Given the description of an element on the screen output the (x, y) to click on. 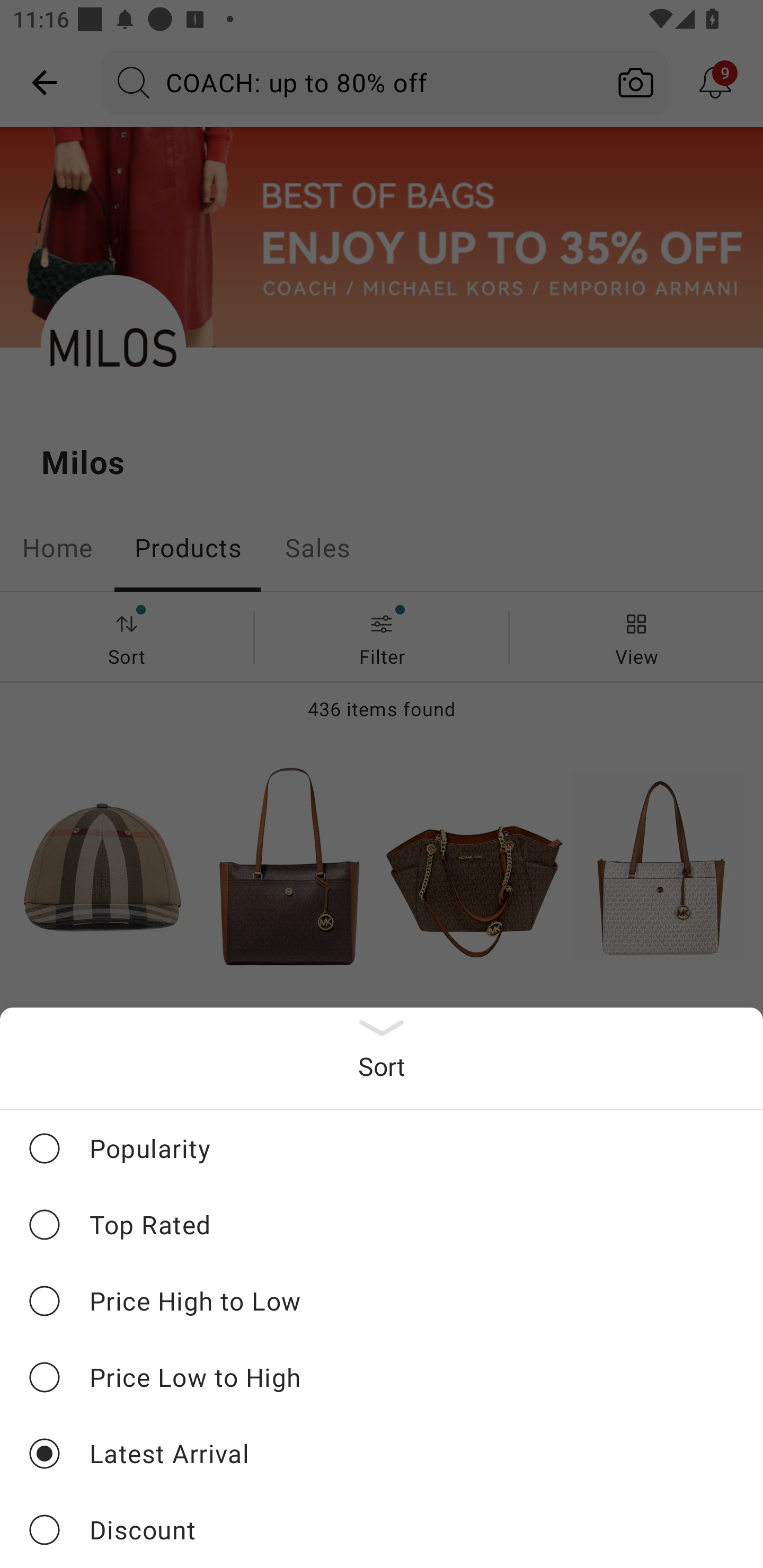
Popularity (381, 1148)
Top Rated (381, 1224)
Price High to Low (381, 1300)
Price Low to High (381, 1377)
Latest Arrival (381, 1453)
Discount (381, 1529)
